Given the description of an element on the screen output the (x, y) to click on. 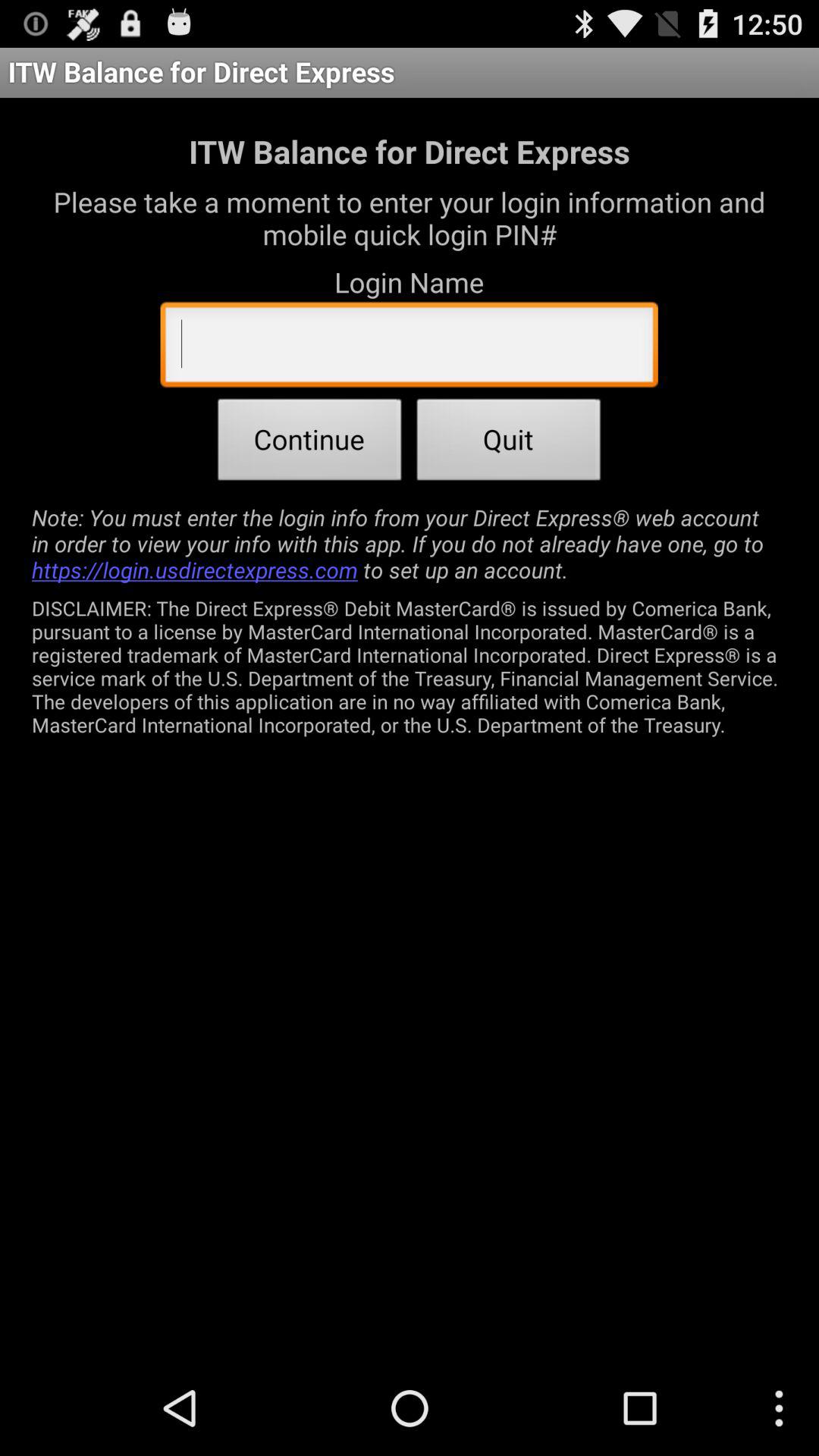
press the app above the note you must (309, 443)
